Given the description of an element on the screen output the (x, y) to click on. 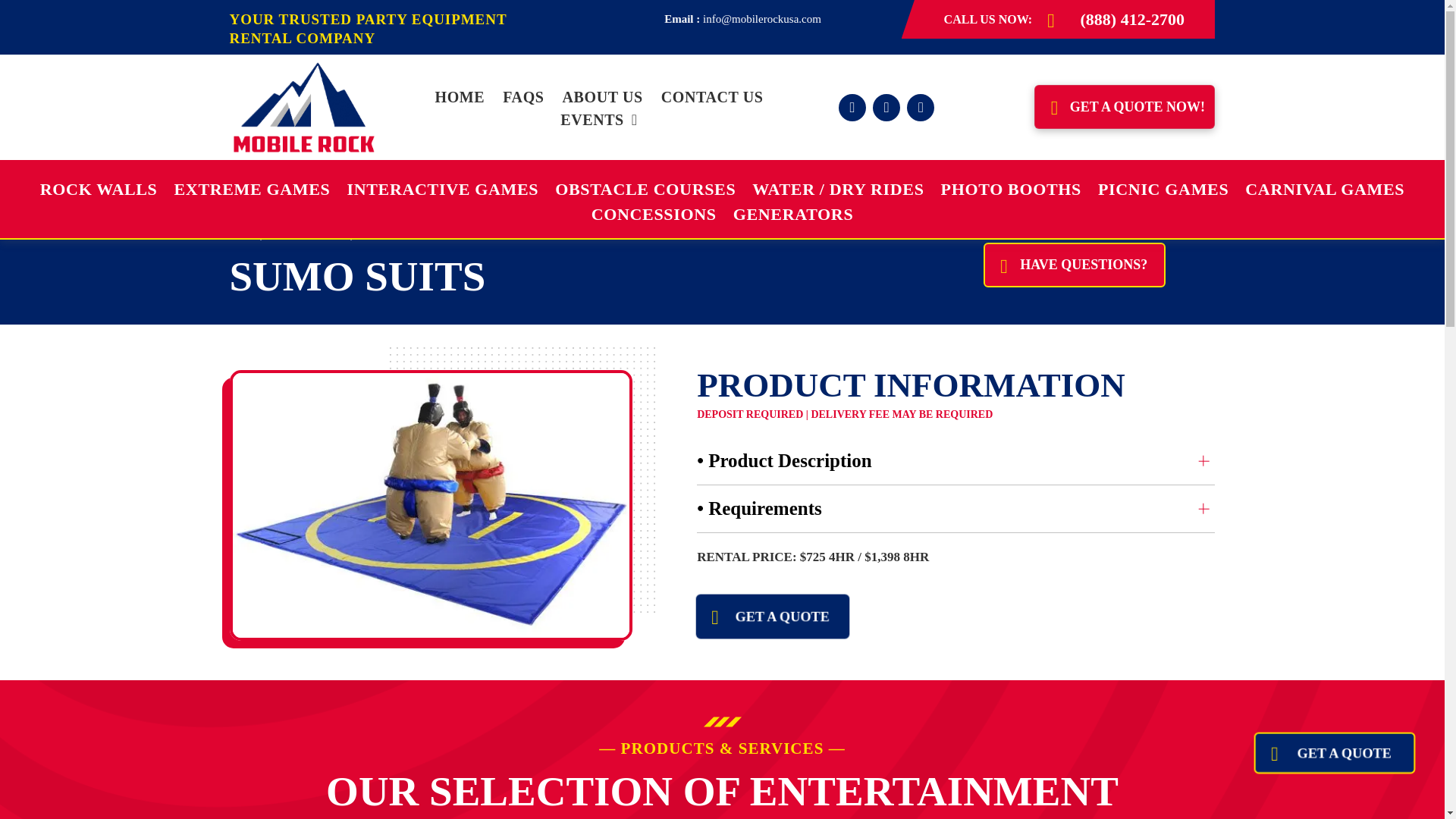
EVENTS (598, 119)
GET A QUOTE NOW! (1123, 106)
ROCK WALLS (98, 188)
HOME (460, 96)
FAQS (523, 96)
EXTREME GAMES (252, 188)
CONTACT US (712, 96)
ABOUT US (602, 96)
